Given the description of an element on the screen output the (x, y) to click on. 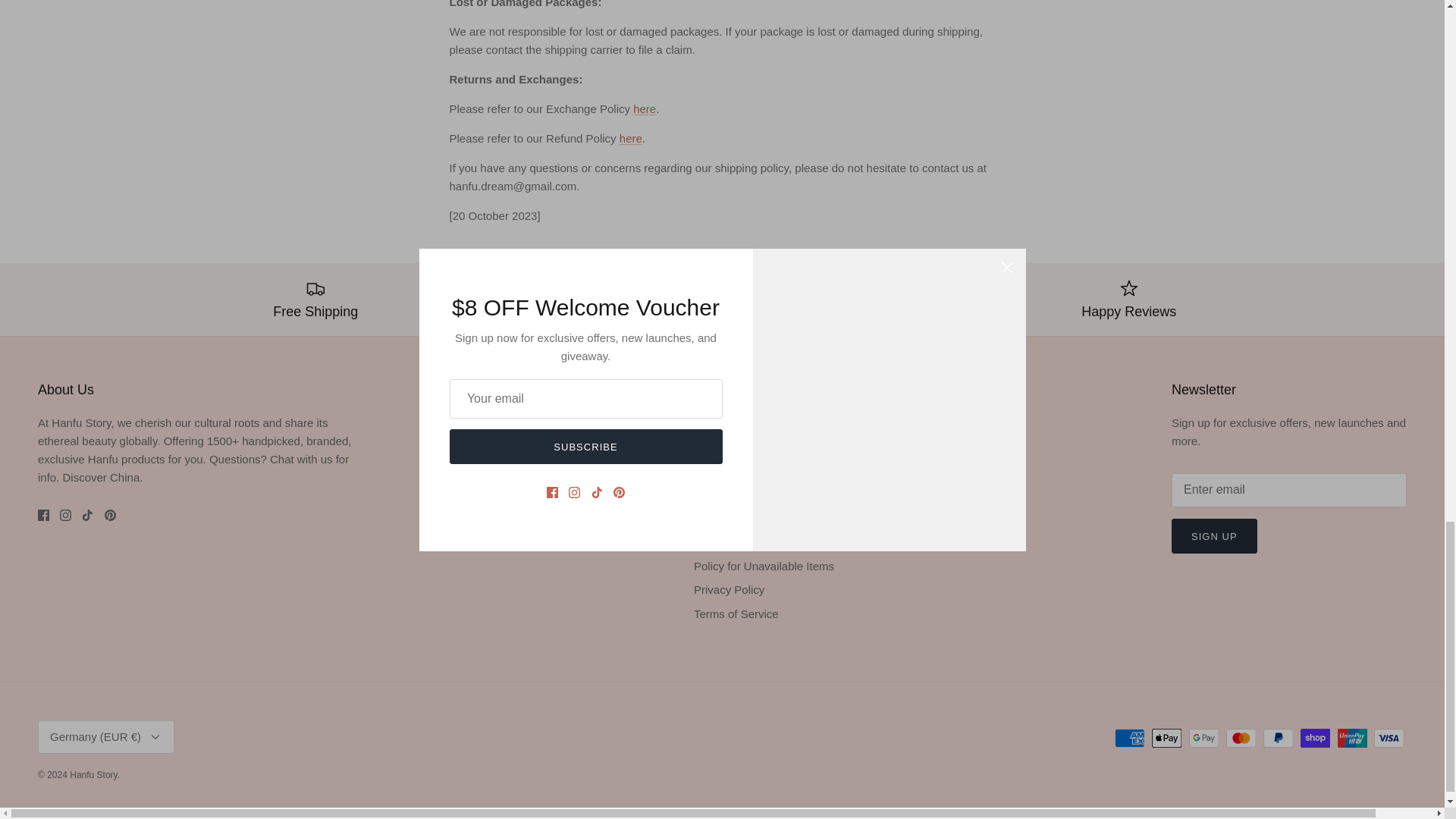
Instagram (65, 514)
Pinterest (110, 514)
American Express (1129, 737)
Apple Pay (1166, 737)
Mastercard (1240, 737)
Google Pay (1203, 737)
Facebook (43, 514)
PayPal (1277, 737)
